Given the description of an element on the screen output the (x, y) to click on. 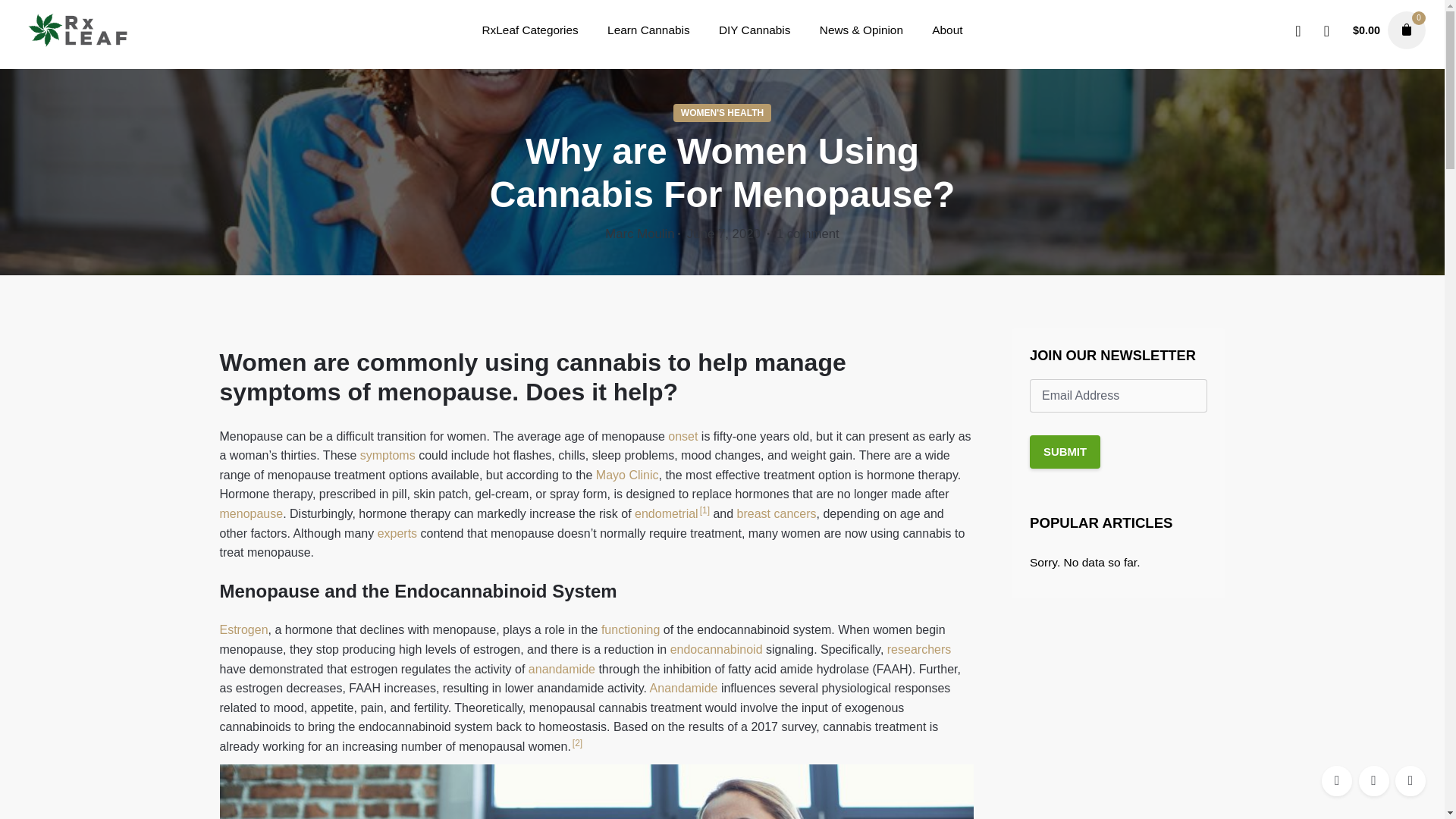
RxLeaf Categories (529, 33)
DIY Cannabis (754, 33)
Learn Cannabis (648, 33)
SUBMIT (1064, 451)
